Given the description of an element on the screen output the (x, y) to click on. 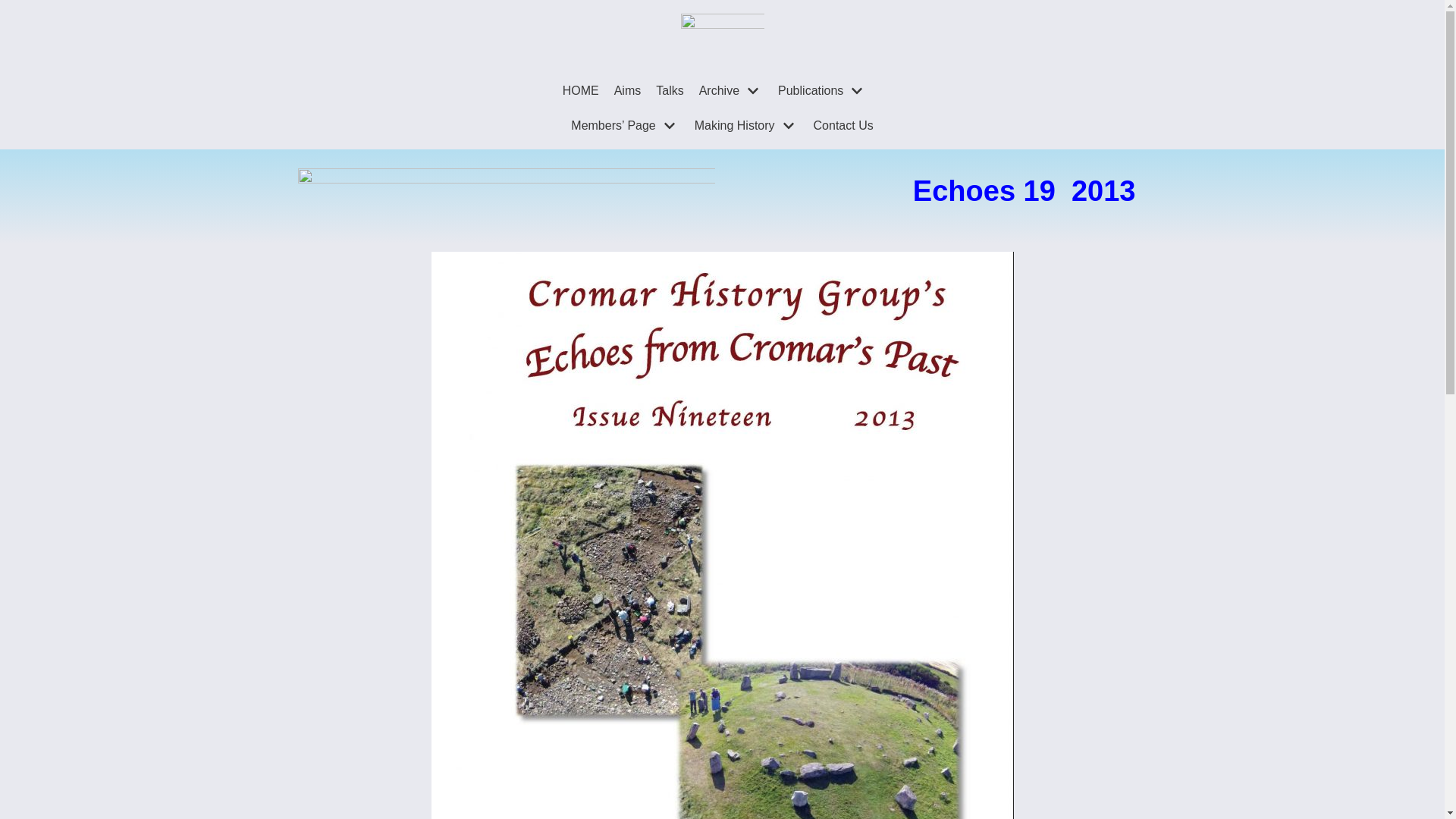
Cromar History Group (722, 33)
HOME (580, 90)
Skip to content (15, 7)
Publications (821, 90)
Archive (730, 90)
Talks (669, 90)
Aims (628, 90)
